Given the description of an element on the screen output the (x, y) to click on. 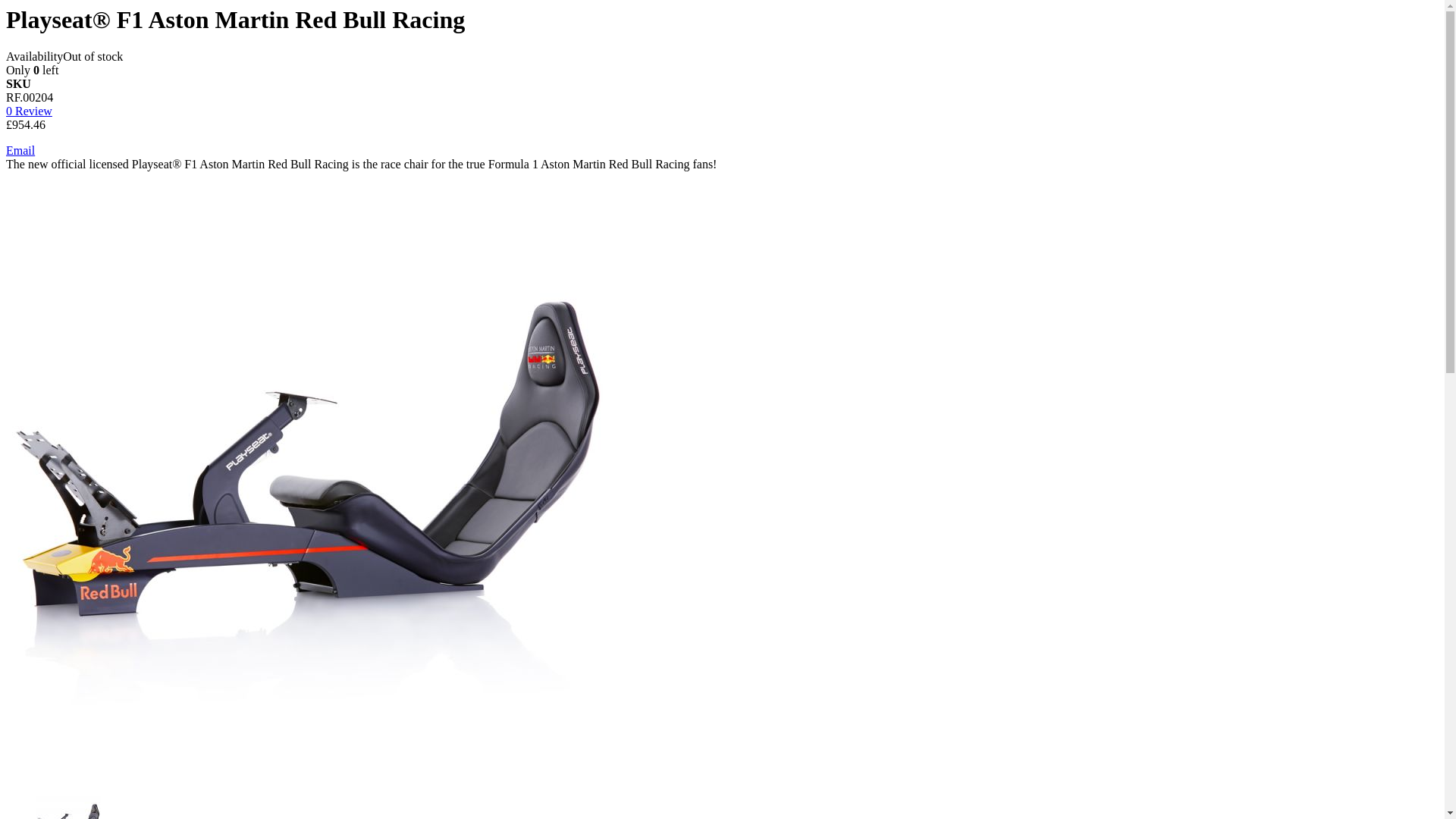
Email (19, 150)
0 Review (28, 110)
